Given the description of an element on the screen output the (x, y) to click on. 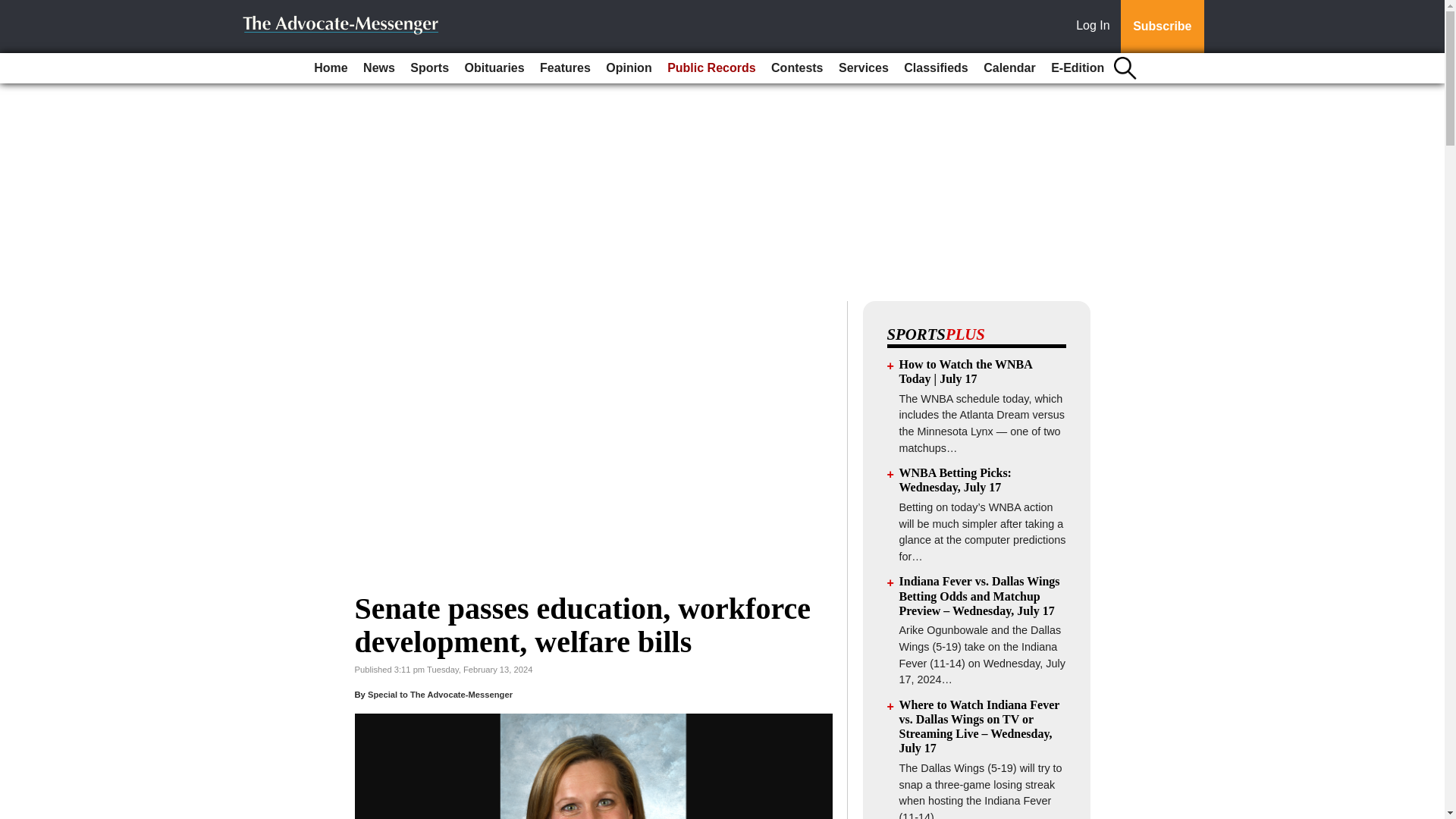
News (378, 68)
Subscribe (1162, 26)
Services (863, 68)
Public Records (711, 68)
Classifieds (936, 68)
Sports (429, 68)
E-Edition (1077, 68)
Log In (1095, 26)
Features (565, 68)
Go (13, 9)
Obituaries (493, 68)
WNBA Betting Picks: Wednesday, July 17 (955, 479)
Calendar (1008, 68)
Home (330, 68)
Special to The Advocate-Messenger (440, 694)
